Given the description of an element on the screen output the (x, y) to click on. 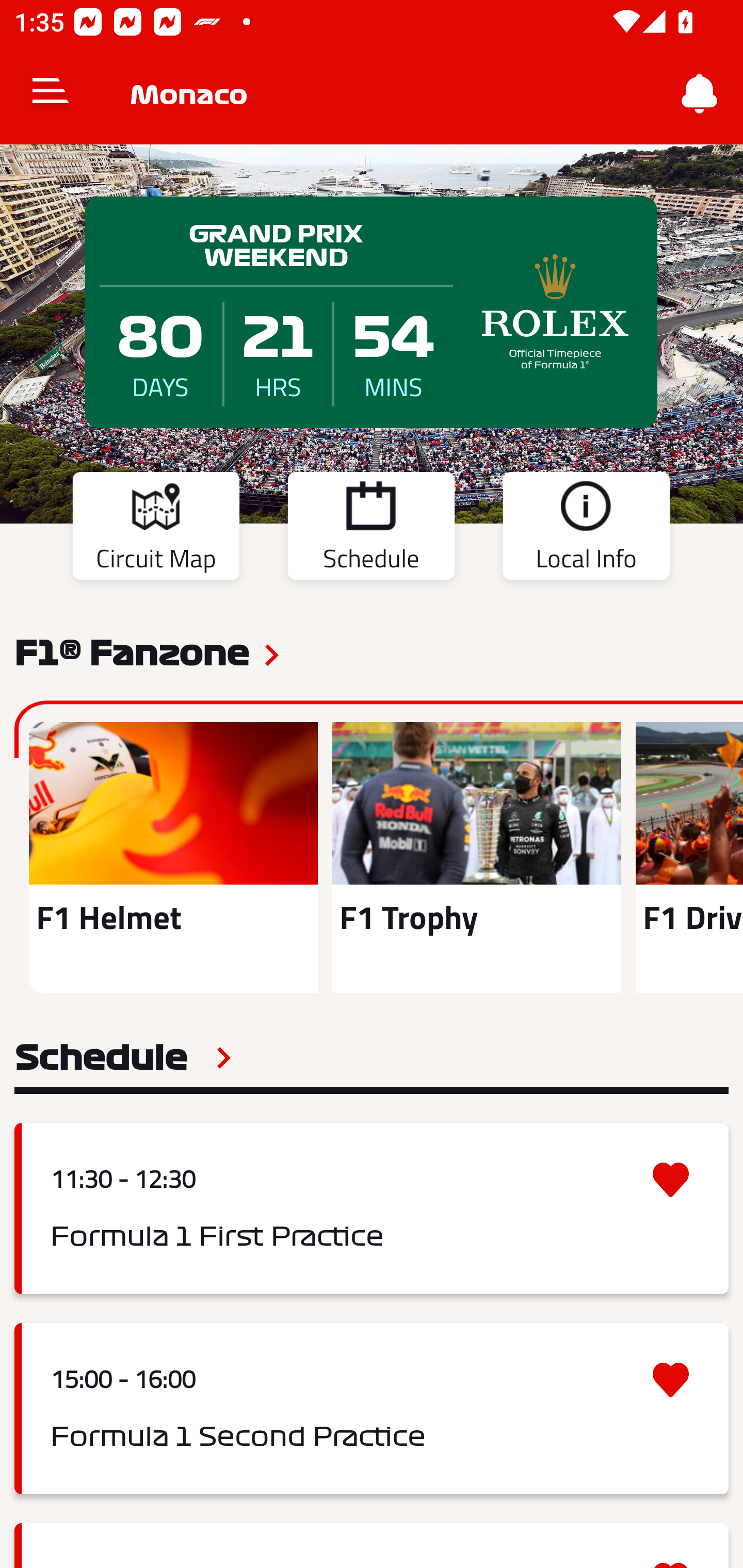
Navigate up (50, 93)
Notifications (699, 93)
Circuit Map (155, 528)
Schedule (370, 528)
Local Info (586, 528)
F1® Fanzone (131, 651)
F1 Helmet (173, 857)
F1 Trophy (476, 857)
Schedule (122, 1057)
11:30 - 12:30 Formula 1 First Practice (371, 1207)
15:00 - 16:00 Formula 1 Second Practice (371, 1408)
